Given the description of an element on the screen output the (x, y) to click on. 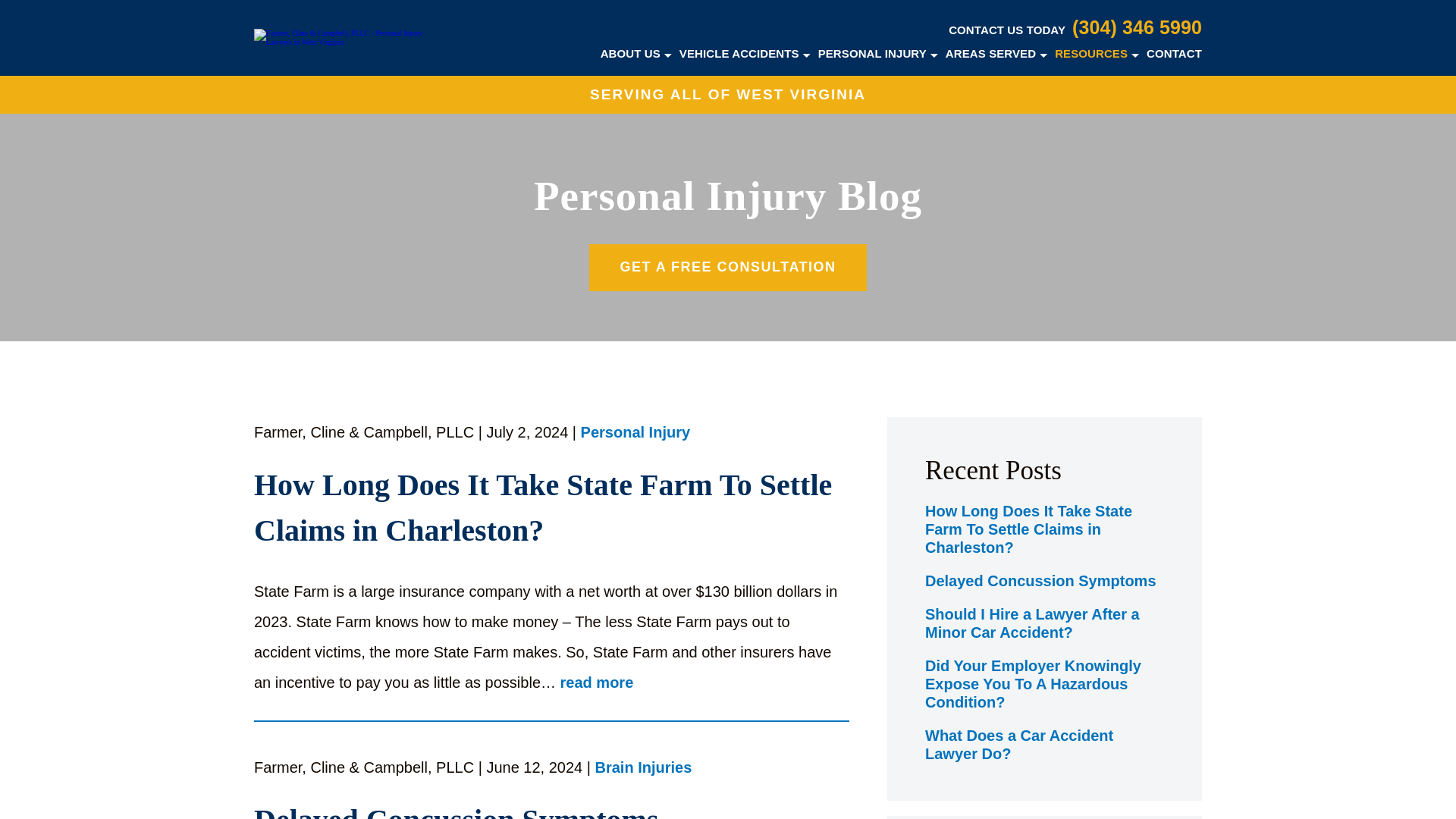
Delayed Concussion Symptoms (550, 808)
GET A FREE CONSULTATION (727, 267)
read more (596, 683)
ABOUT US (630, 52)
VEHICLE ACCIDENTS (739, 52)
CONTACT (1174, 52)
PERSONAL INJURY (872, 52)
Brain Injuries (644, 768)
RESOURCES (1090, 52)
